Given the description of an element on the screen output the (x, y) to click on. 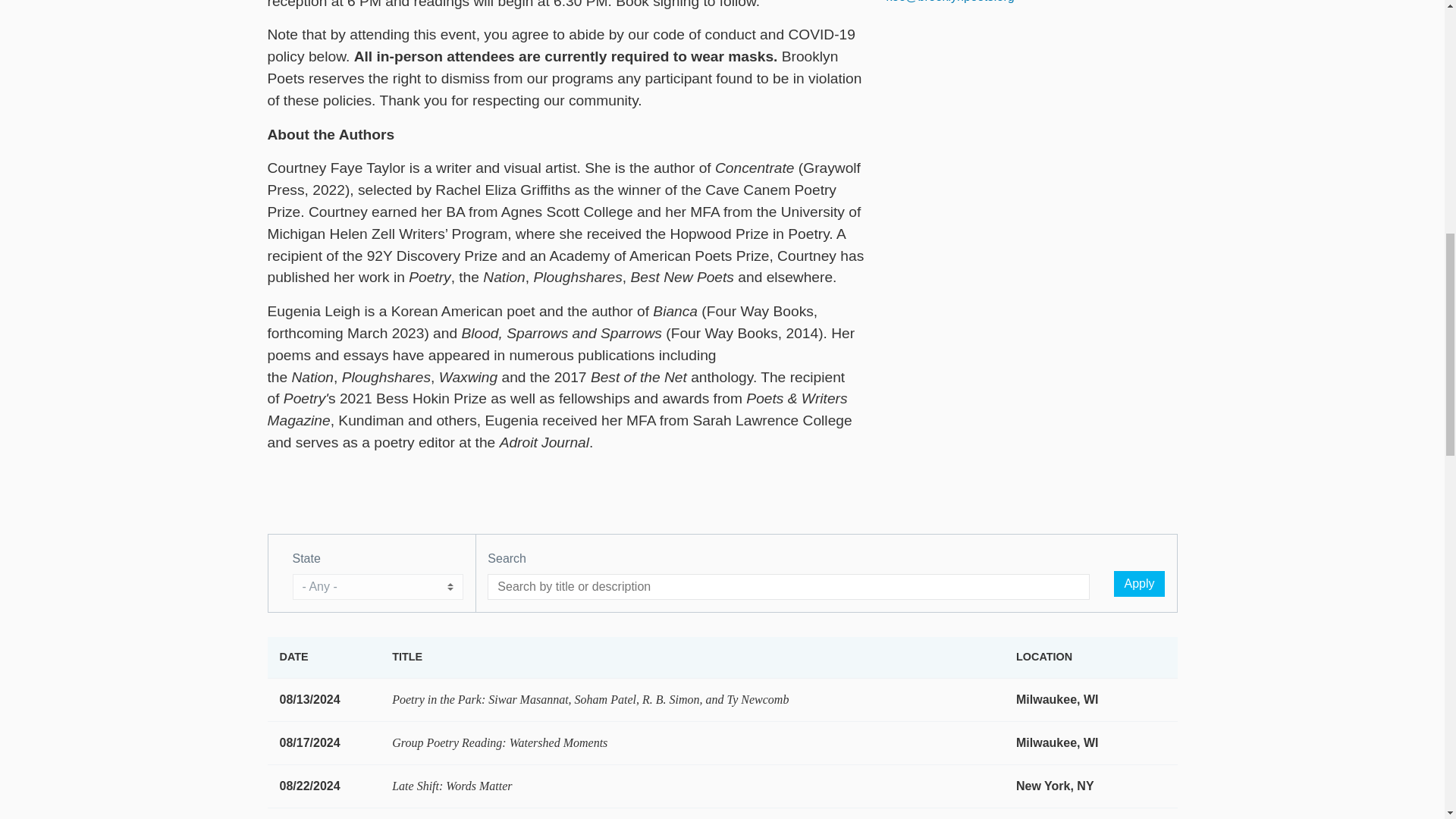
Apply (1138, 583)
Late Shift: Words Matter (451, 785)
Apply (1138, 583)
Group Poetry Reading: Watershed Moments (499, 742)
